Given the description of an element on the screen output the (x, y) to click on. 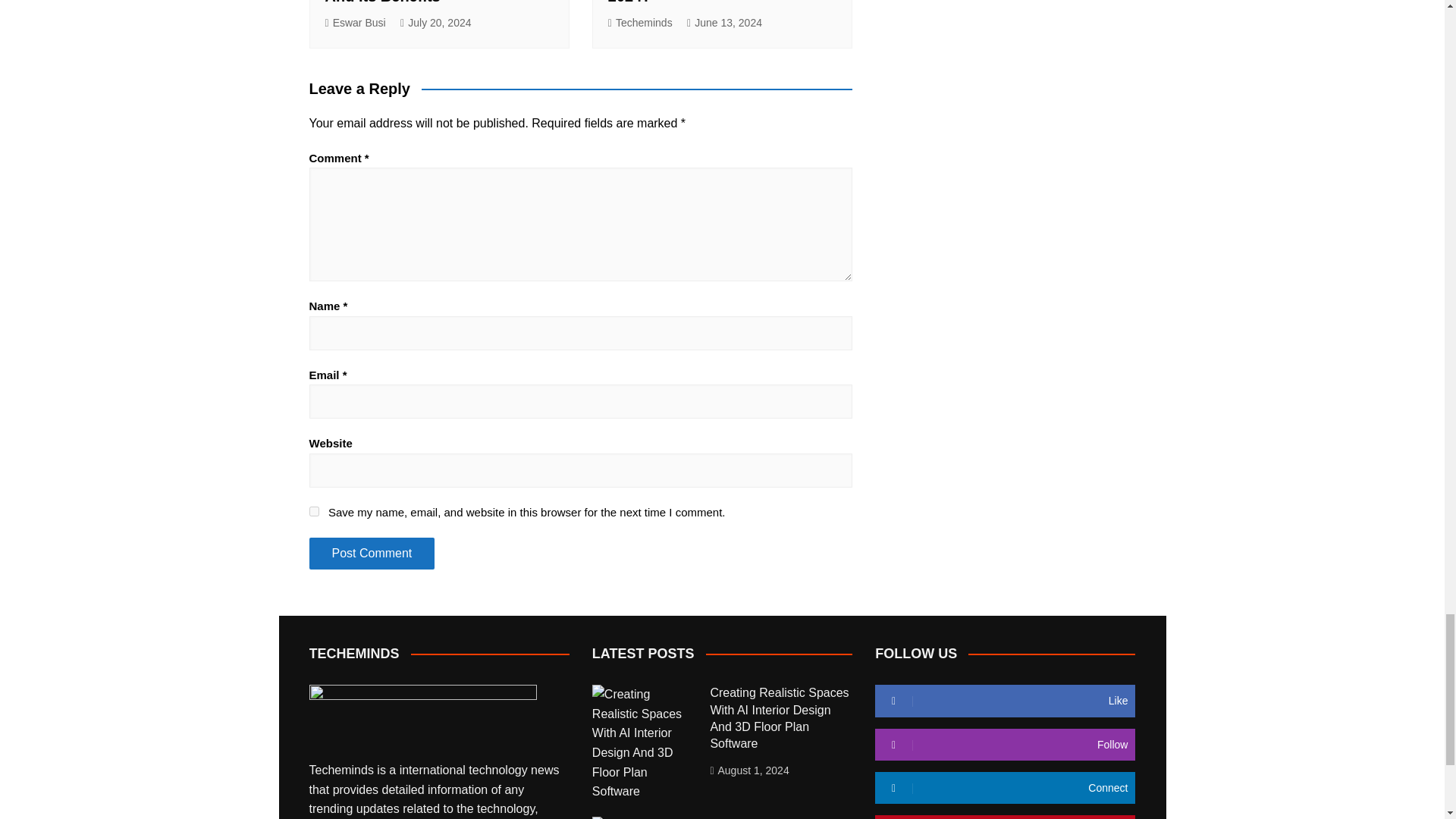
Post Comment (371, 553)
yes (313, 511)
